Given the description of an element on the screen output the (x, y) to click on. 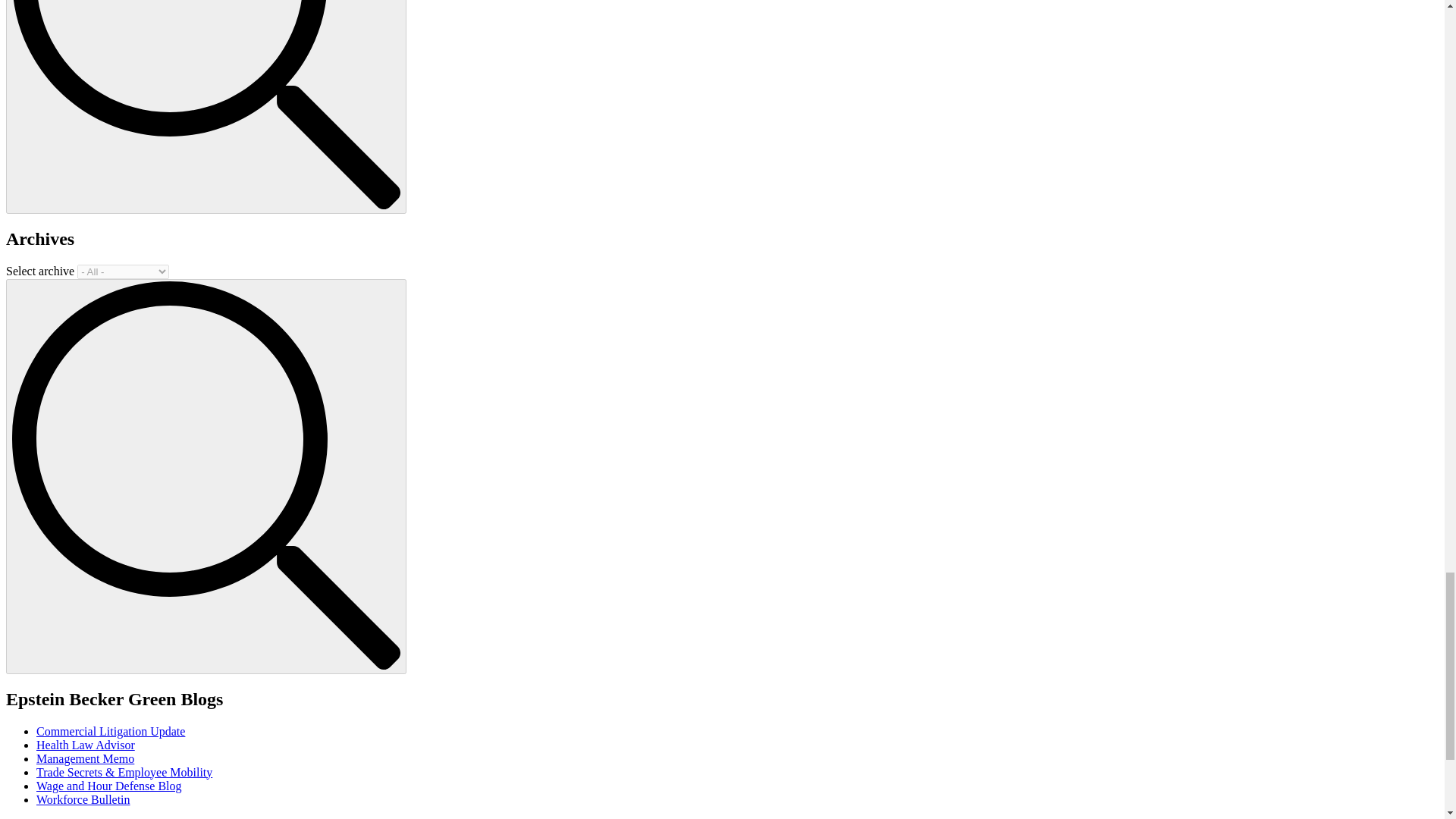
Search (205, 104)
